Given the description of an element on the screen output the (x, y) to click on. 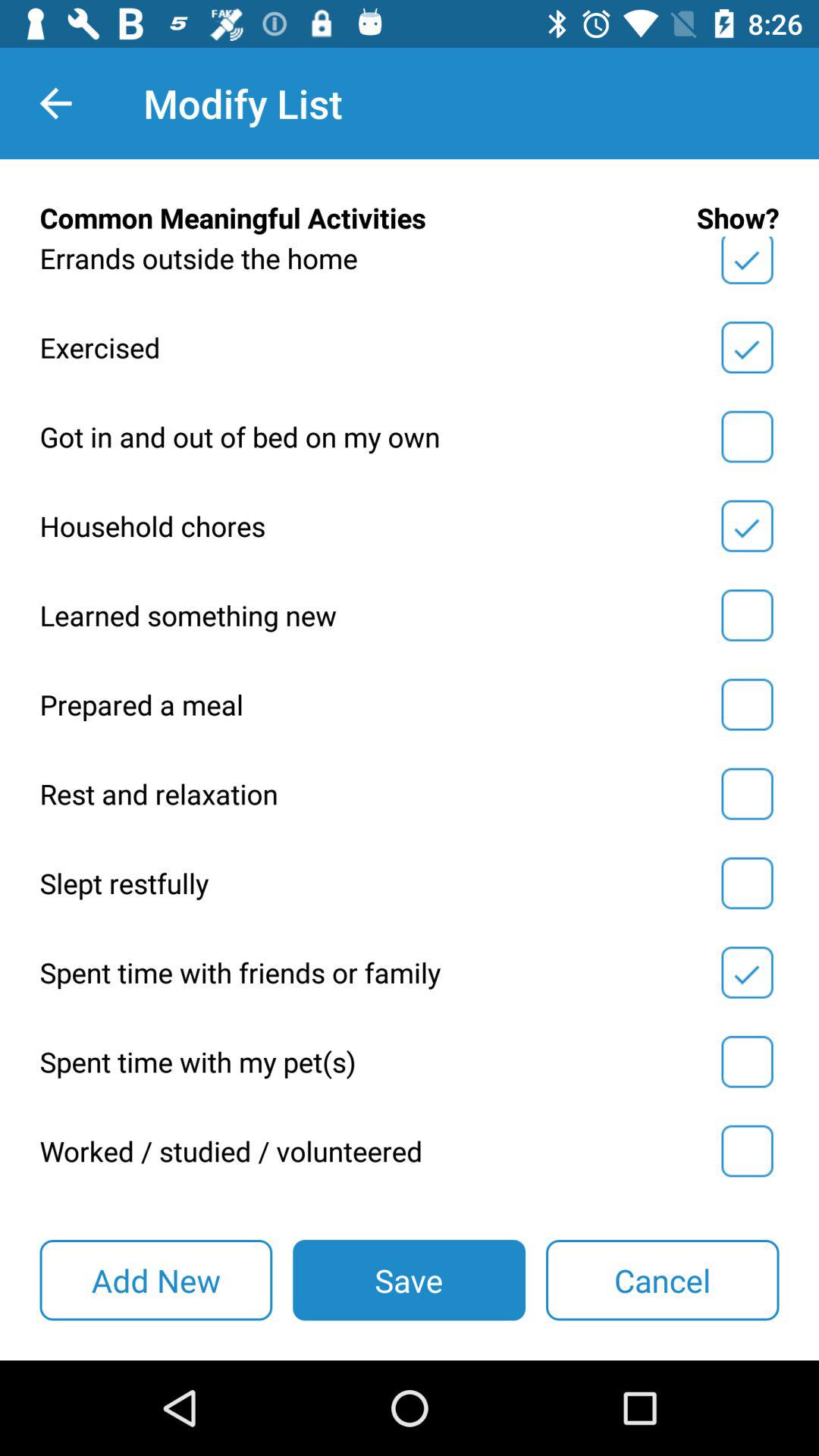
toggle exercised indicator (747, 347)
